Given the description of an element on the screen output the (x, y) to click on. 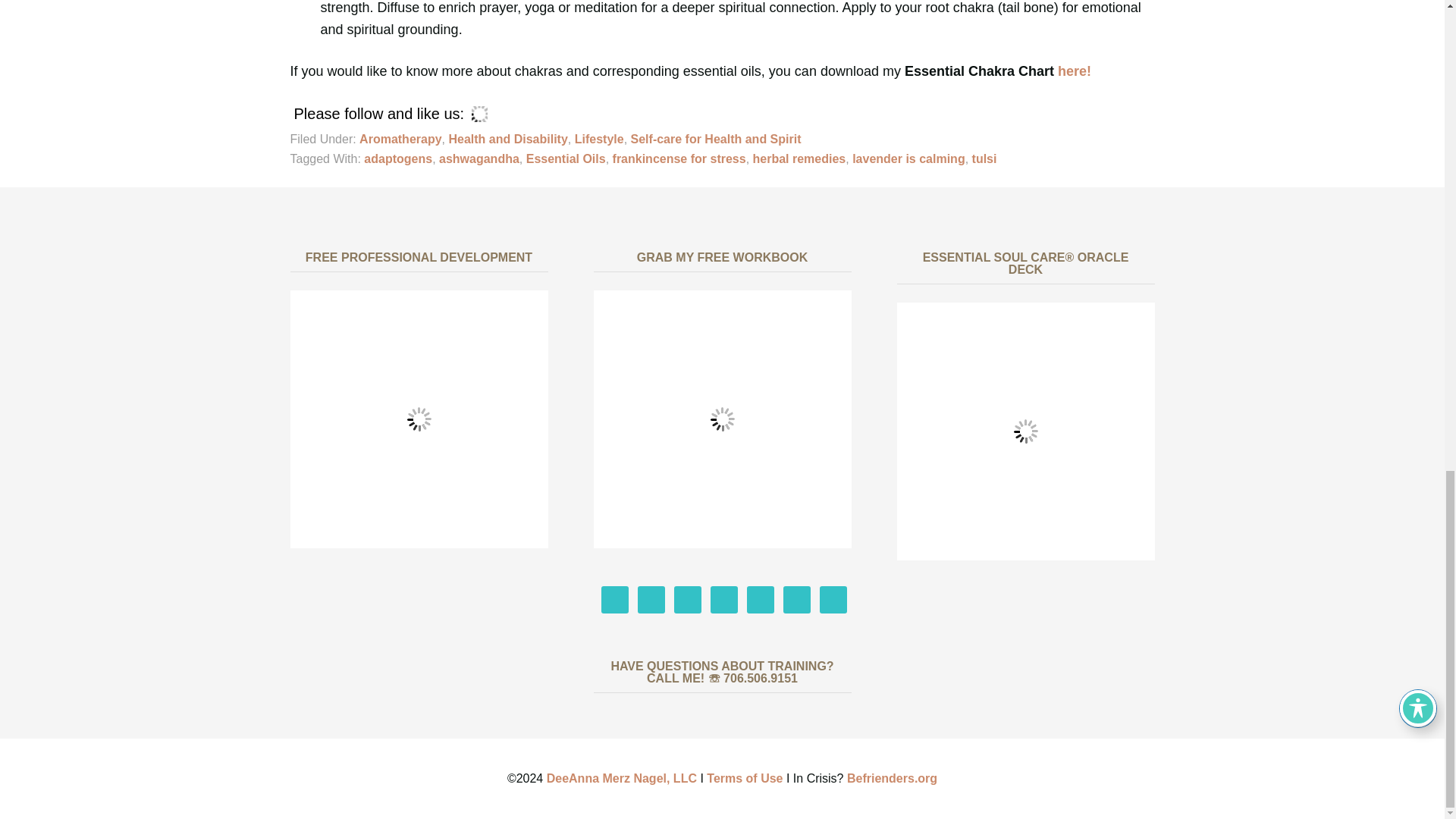
ashwagandha (479, 158)
here! (1074, 70)
adaptogens (398, 158)
Essential Oils (565, 158)
Aromatherapy (400, 138)
herbal remedies (798, 158)
frankincense for stress (678, 158)
Health and Disability (507, 138)
